Given the description of an element on the screen output the (x, y) to click on. 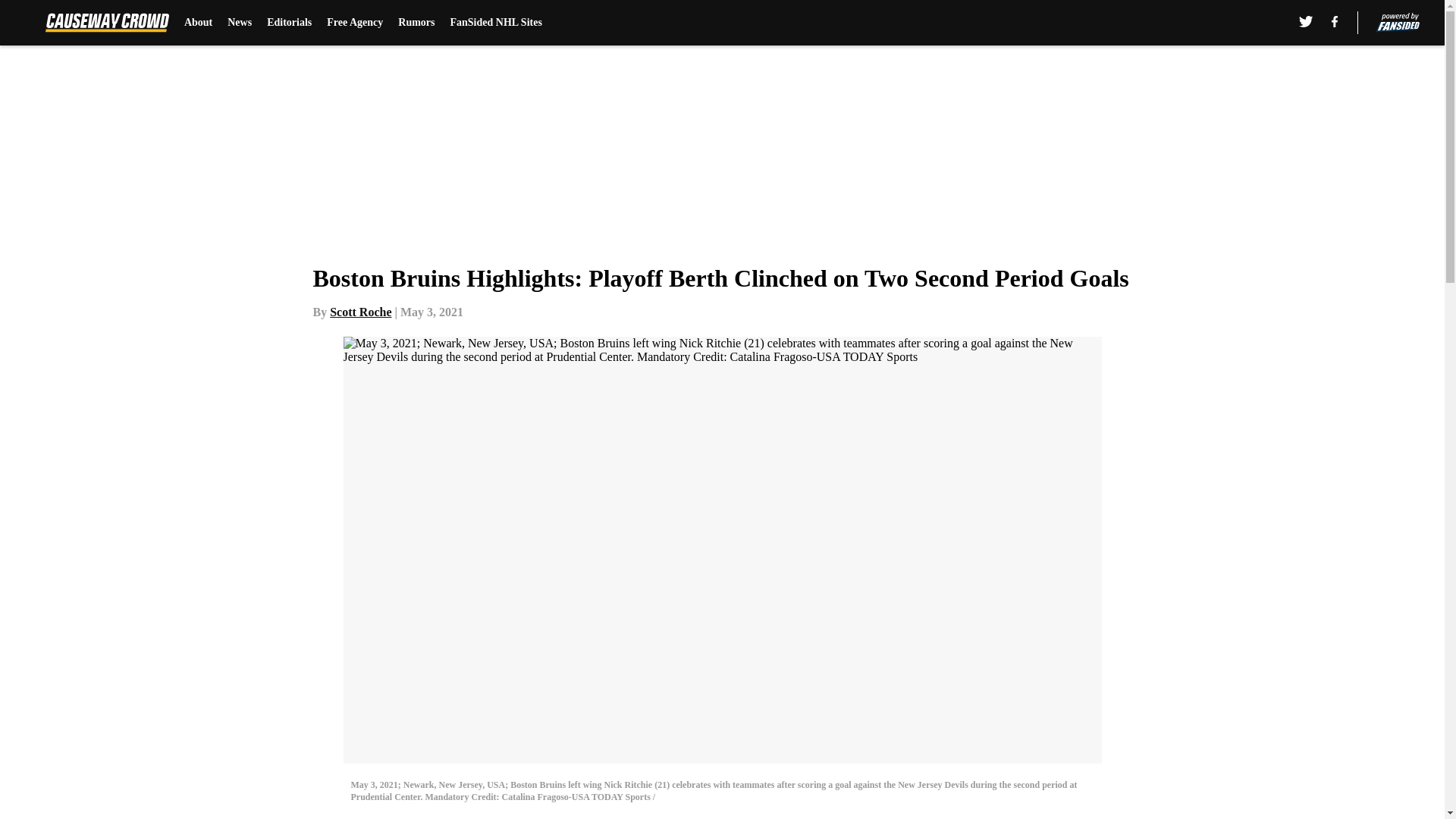
Rumors (415, 22)
Editorials (288, 22)
Free Agency (354, 22)
News (239, 22)
Scott Roche (360, 311)
About (198, 22)
FanSided NHL Sites (495, 22)
